Given the description of an element on the screen output the (x, y) to click on. 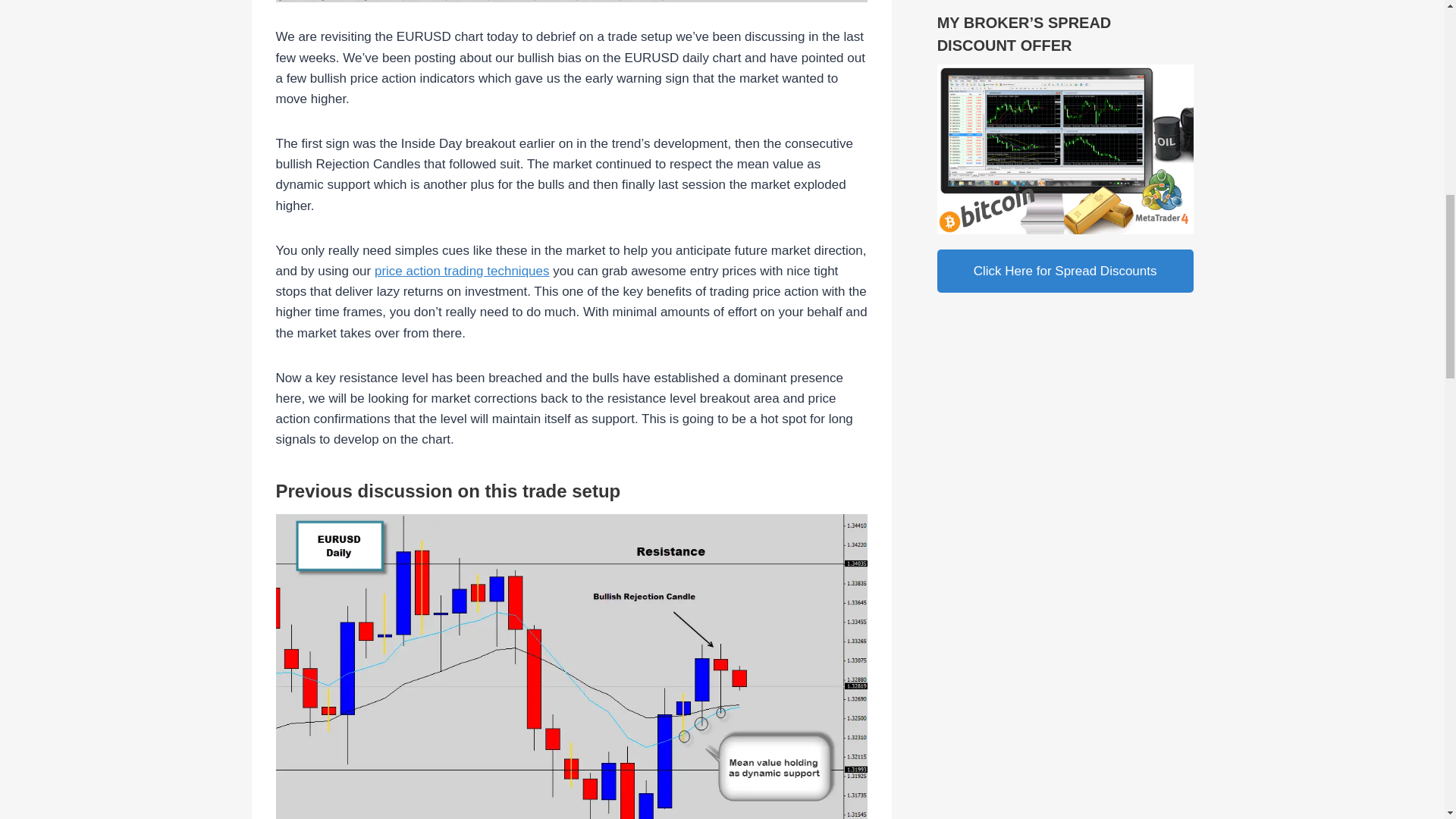
price action trading techniques (462, 270)
Click Here for Spread Discounts (1065, 270)
